Given the description of an element on the screen output the (x, y) to click on. 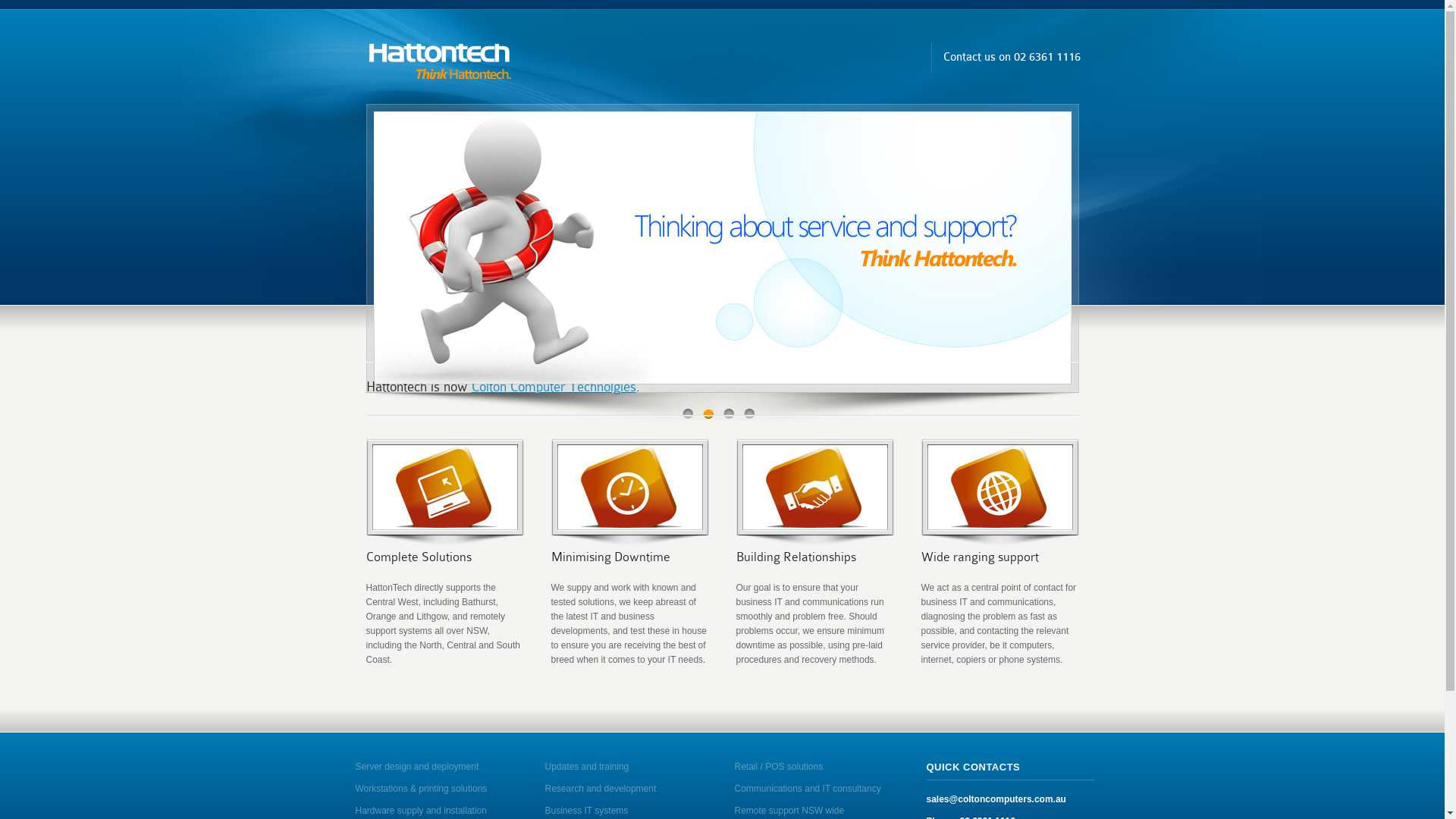
2 Element type: text (708, 413)
Contact us on 02 6361 1116 Element type: text (1011, 57)
3 Element type: text (728, 413)
4 Element type: text (749, 413)
Colton Computer Technolgies Element type: text (553, 386)
1 Element type: text (687, 413)
sales@coltoncomputers.com.au Element type: text (996, 798)
